Given the description of an element on the screen output the (x, y) to click on. 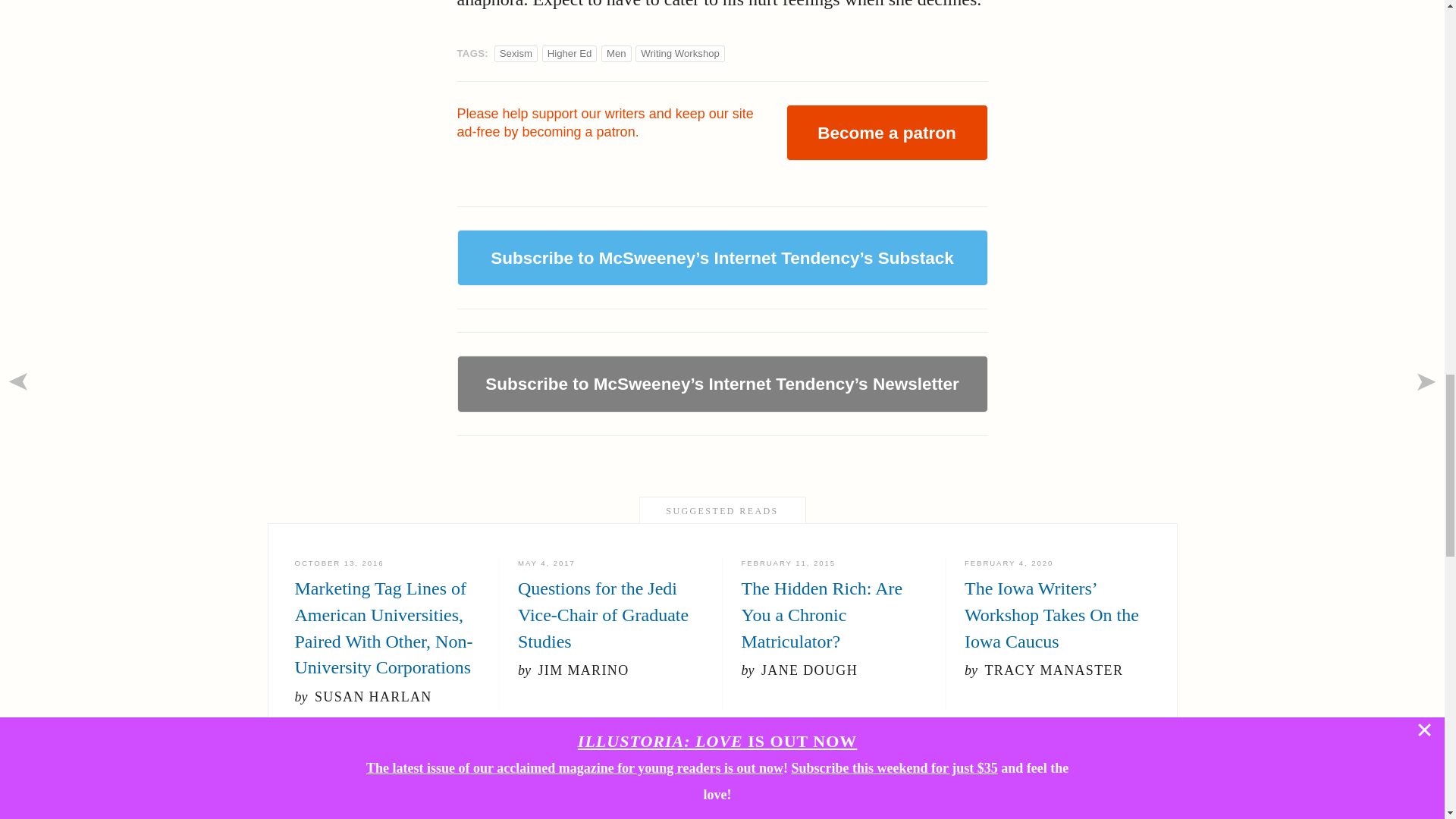
Writing Workshop (679, 52)
Men (616, 52)
Become a patron (886, 132)
Sexism (515, 52)
Higher Ed (569, 52)
